Given the description of an element on the screen output the (x, y) to click on. 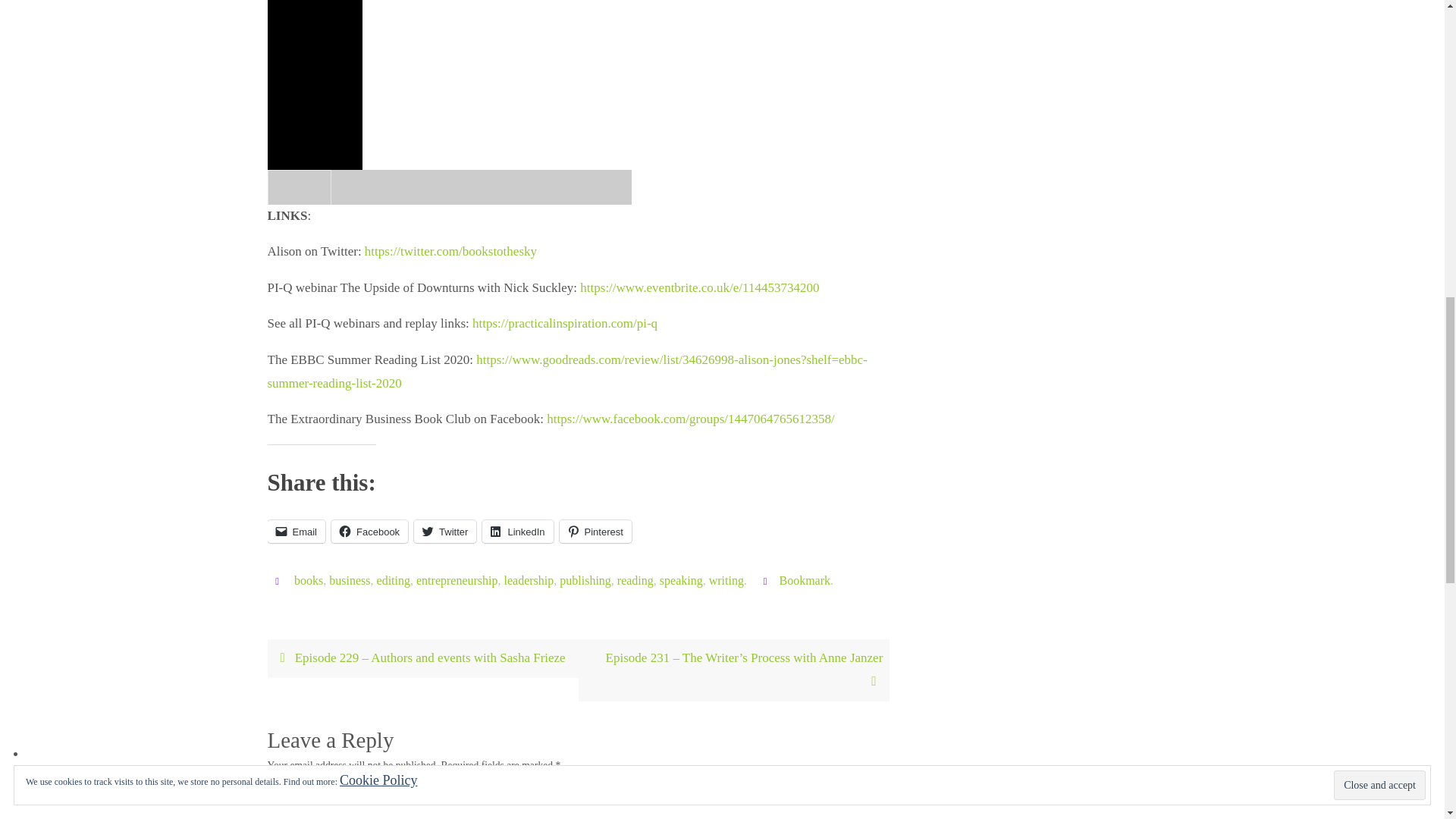
Email (295, 531)
Click to email a link to a friend (295, 531)
Facebook (369, 531)
Pinterest (595, 531)
leadership (528, 581)
Click to share on Facebook (369, 531)
Twitter (444, 531)
LinkedIn (517, 531)
reading (635, 581)
speaking (681, 581)
writing (726, 581)
books (308, 581)
business (349, 581)
editing (393, 581)
publishing (585, 581)
